Given the description of an element on the screen output the (x, y) to click on. 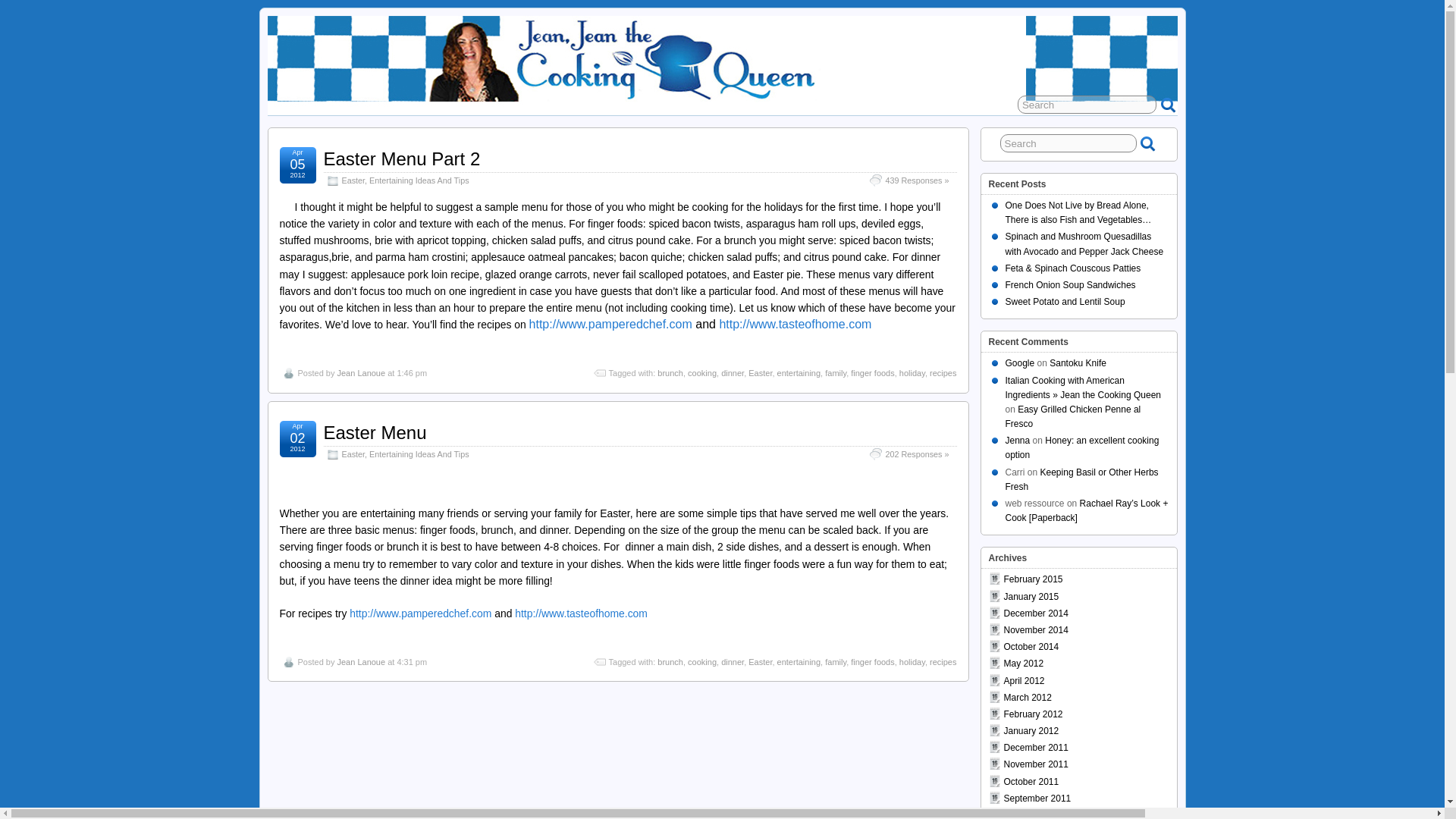
Easter (759, 661)
French Onion Soup Sandwiches (1070, 285)
recipes (943, 372)
Search (1086, 104)
Easter Menu (374, 432)
Jean Lanoue (360, 372)
Search (1068, 143)
dinner (732, 661)
brunch (670, 661)
Easter (352, 180)
Easter Menu Part 2 (401, 158)
Entertaining Ideas And Tips (418, 180)
dinner (732, 372)
family (835, 372)
